Given the description of an element on the screen output the (x, y) to click on. 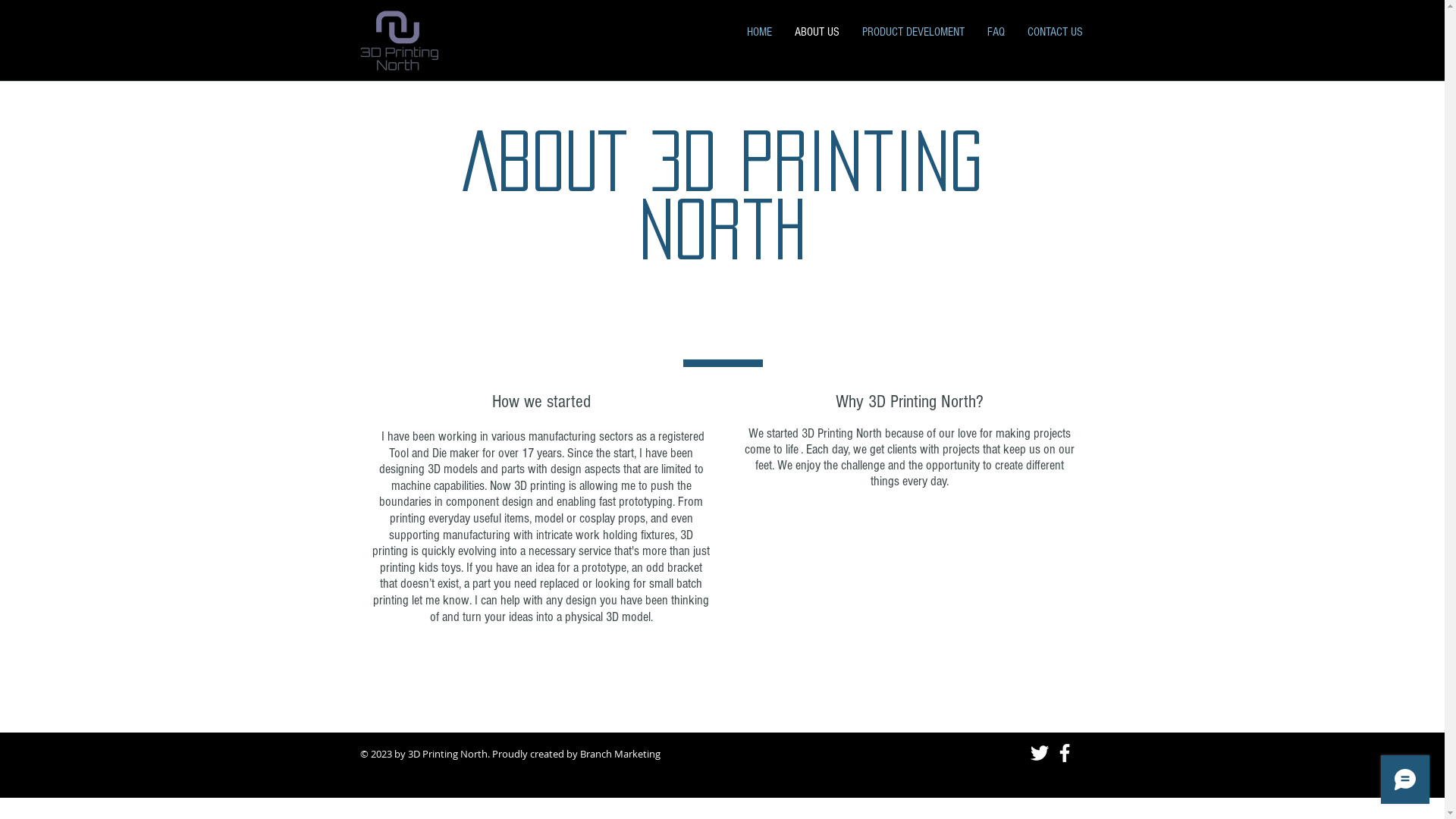
PRODUCT DEVELOMENT Element type: text (912, 31)
HOME Element type: text (759, 31)
ABOUT US Element type: text (816, 31)
FAQ Element type: text (995, 31)
CONTACT US Element type: text (1055, 31)
